Given the description of an element on the screen output the (x, y) to click on. 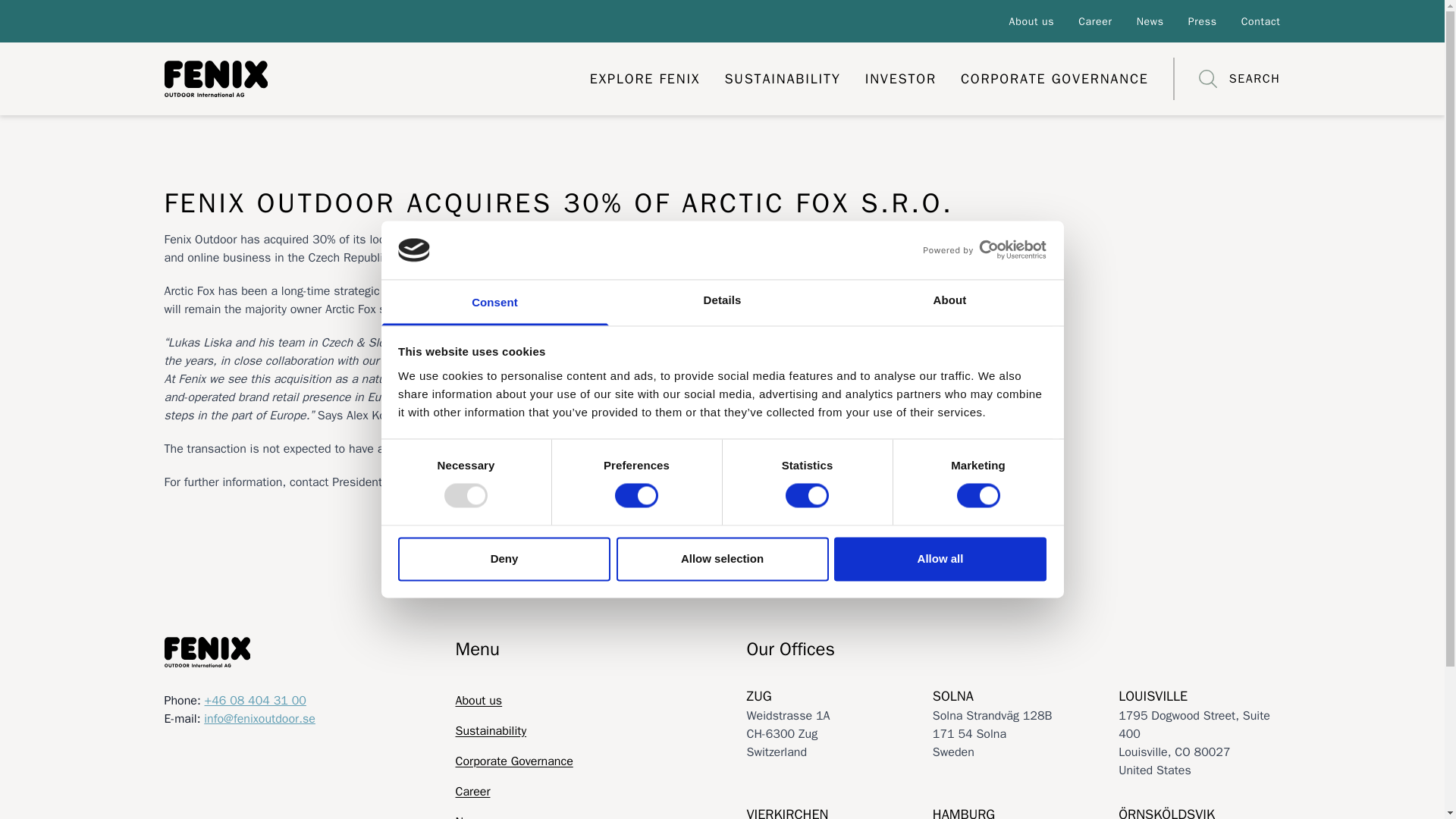
Press (1202, 21)
Fenix Outdoor (363, 78)
SUSTAINABILITY (781, 78)
About us (1031, 21)
Allow selection (721, 558)
Details (721, 302)
Career (1095, 21)
Allow all (940, 558)
Contact (1261, 21)
About (948, 302)
